Given the description of an element on the screen output the (x, y) to click on. 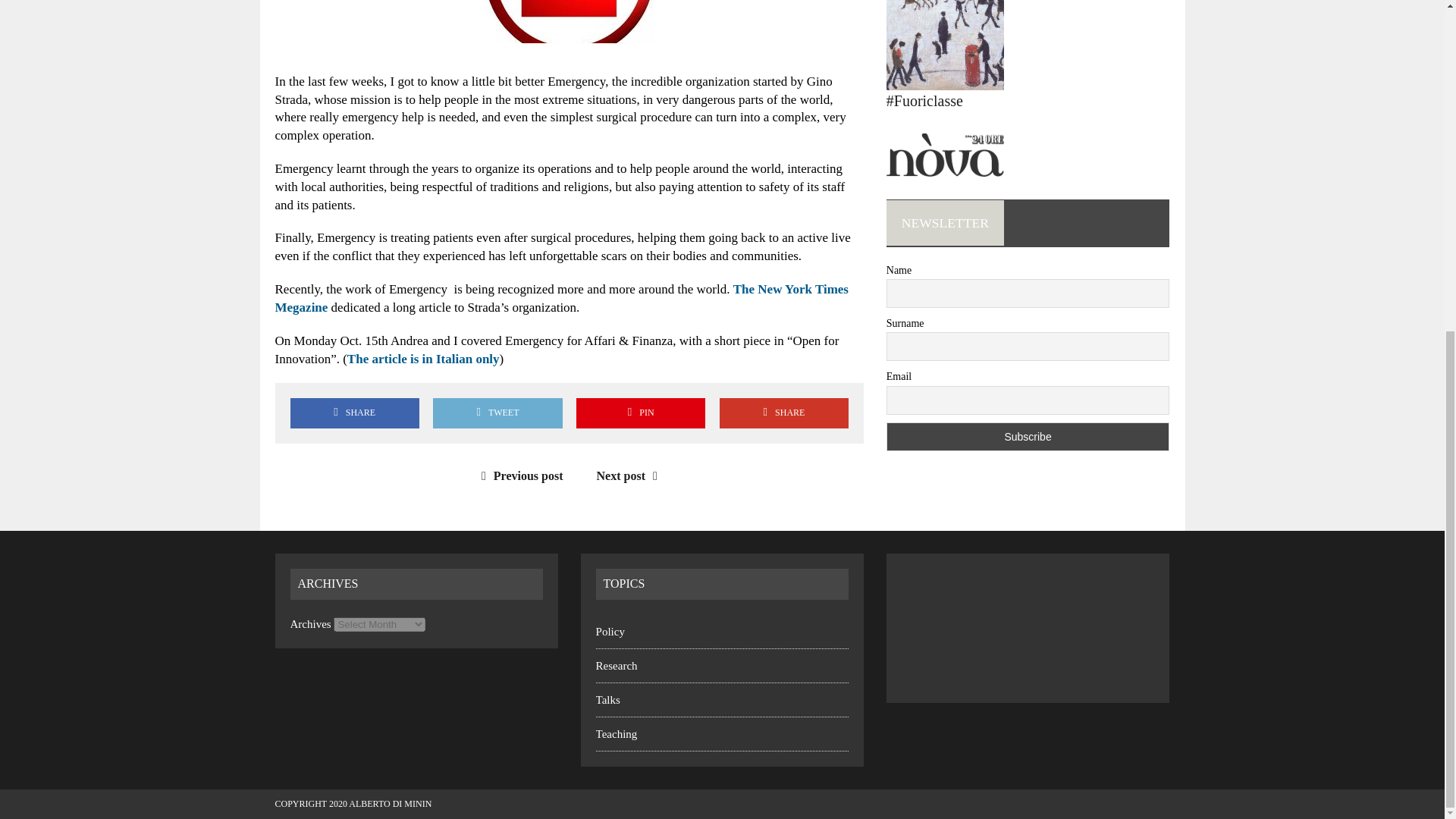
Tweet This Post (497, 412)
Previous post (518, 475)
Teaching (616, 734)
PIN (640, 412)
Share on Facebook (354, 412)
The New York Times Megazine (561, 297)
Subscribe (1028, 436)
Talks (607, 699)
Research (616, 665)
Subscribe (1028, 436)
